Given the description of an element on the screen output the (x, y) to click on. 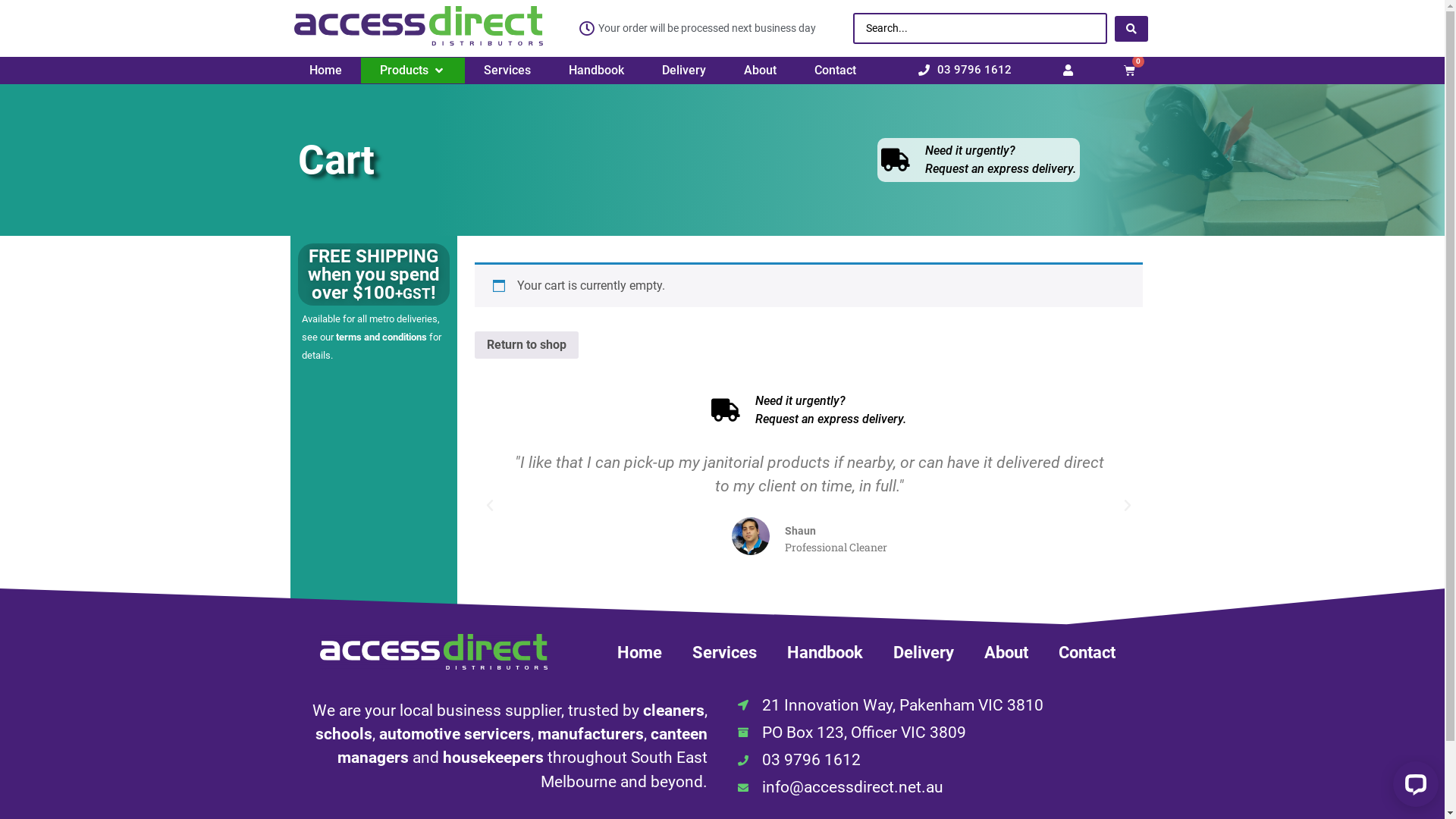
Home Element type: text (639, 652)
Contact Element type: text (1086, 652)
schools Element type: text (343, 733)
Handbook Element type: text (596, 70)
Return to shop Element type: text (526, 344)
cleaners Element type: text (673, 710)
Delivery Element type: text (683, 70)
21 Innovation Way, Pakenham VIC 3810 Element type: text (938, 705)
Contact Element type: text (835, 70)
Home Element type: text (325, 70)
03 9796 1612 Element type: text (964, 70)
03 9796 1612 Element type: text (938, 759)
Products Element type: text (403, 70)
About Element type: text (759, 70)
manufacturers Element type: text (589, 733)
Need it urgently?
Request an express delivery. Element type: text (978, 159)
Need it urgently?
Request an express delivery. Element type: text (808, 410)
canteen managers Element type: text (521, 745)
Services Element type: text (724, 652)
0 Element type: text (1129, 70)
Handbook Element type: text (824, 652)
Delivery Element type: text (923, 652)
terms and conditions Element type: text (380, 336)
Services Element type: text (506, 70)
housekeepers Element type: text (492, 757)
info@accessdirect.net.au Element type: text (938, 787)
About Element type: text (1006, 652)
automotive servicers Element type: text (454, 733)
